Given the description of an element on the screen output the (x, y) to click on. 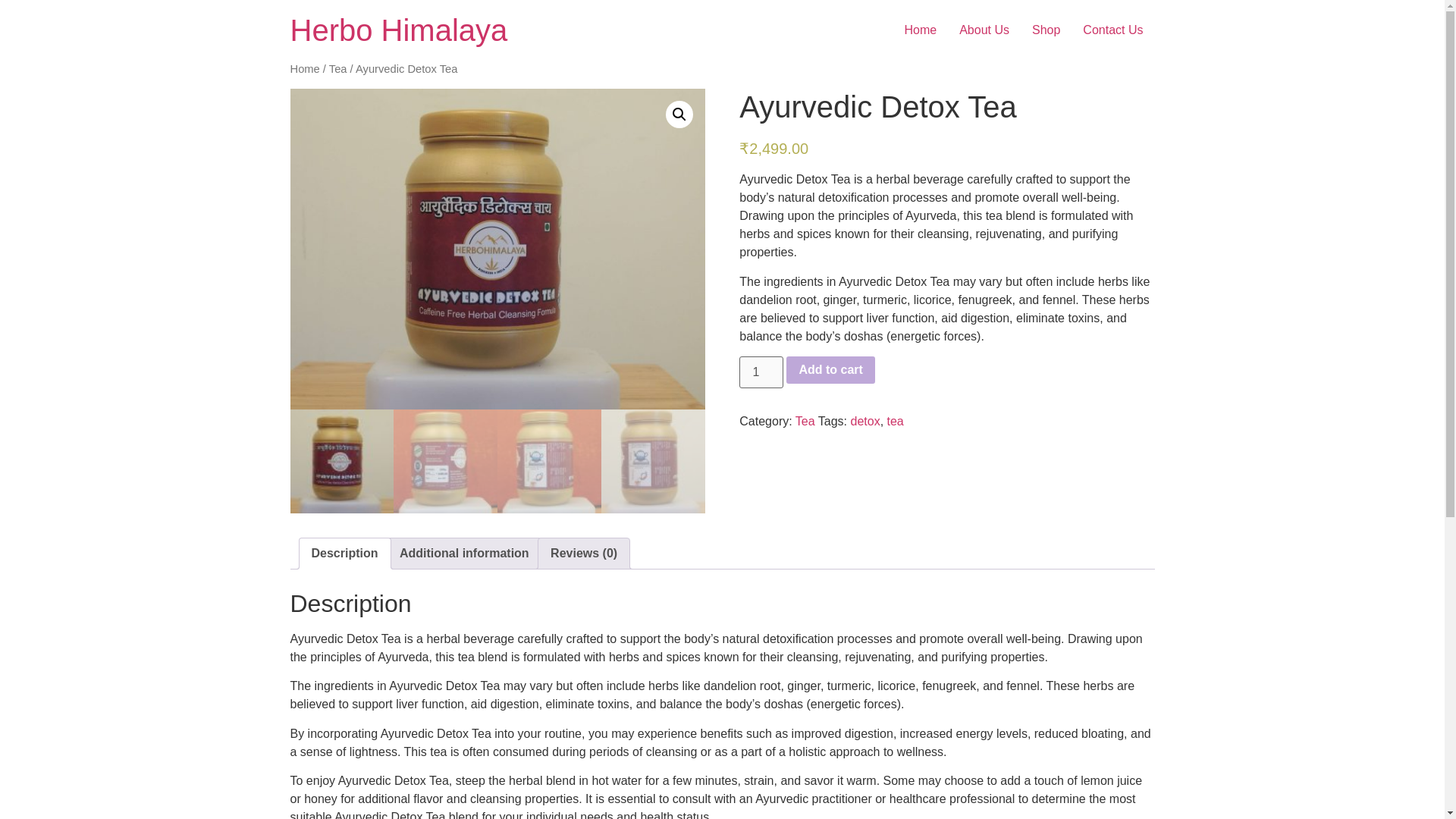
Shop (1045, 30)
1 (761, 372)
tea (895, 420)
Add to cart (830, 370)
Contact Us (1112, 30)
Tea (338, 69)
Description (344, 553)
Additional information (463, 553)
About Us (983, 30)
Home (303, 69)
